Given the description of an element on the screen output the (x, y) to click on. 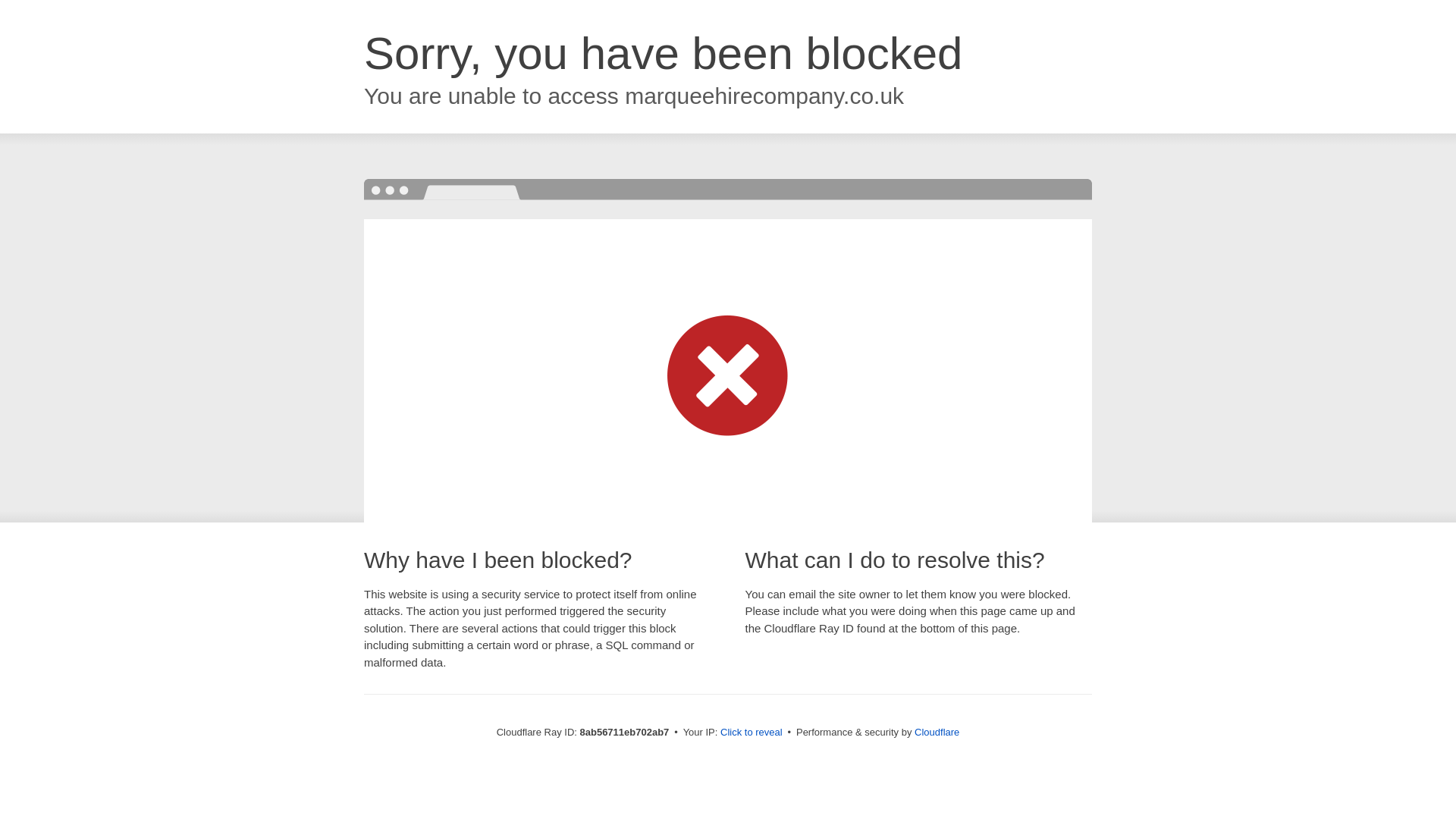
Click to reveal (751, 732)
Cloudflare (936, 731)
